Given the description of an element on the screen output the (x, y) to click on. 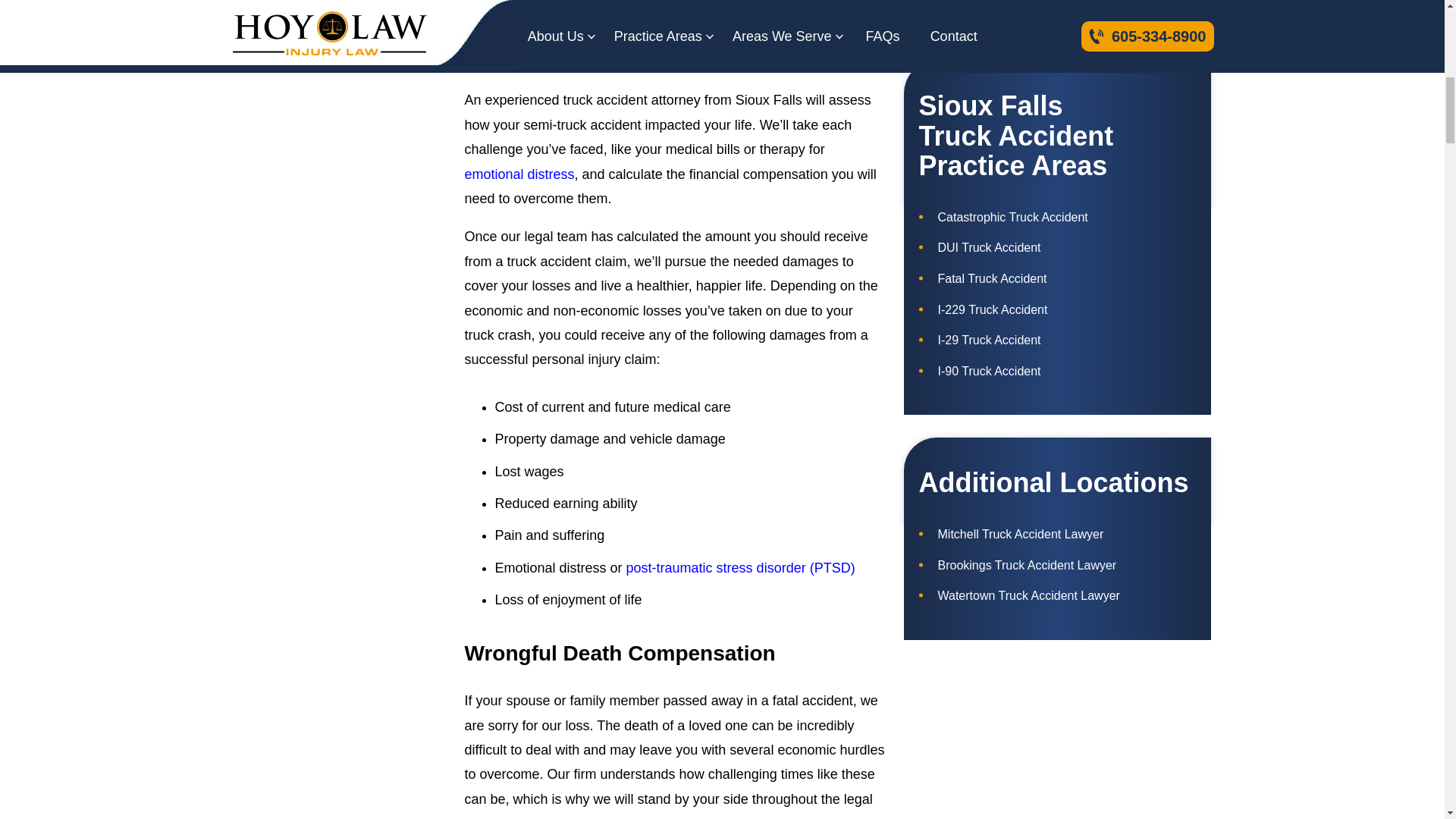
I-229 Truck Accident (1057, 310)
DUI Truck Accident (1057, 247)
Brookings Truck Accident Lawyer (1057, 565)
Fatal Truck Accident (1057, 279)
Get Help Now (1057, 5)
I-90 Truck Accident (1057, 371)
Mitchell Truck Accident Lawyer (1057, 534)
I-29 Truck Accident (1057, 340)
Catastrophic Truck Accident (1057, 217)
Watertown Truck Accident Lawyer (1057, 596)
